Given the description of an element on the screen output the (x, y) to click on. 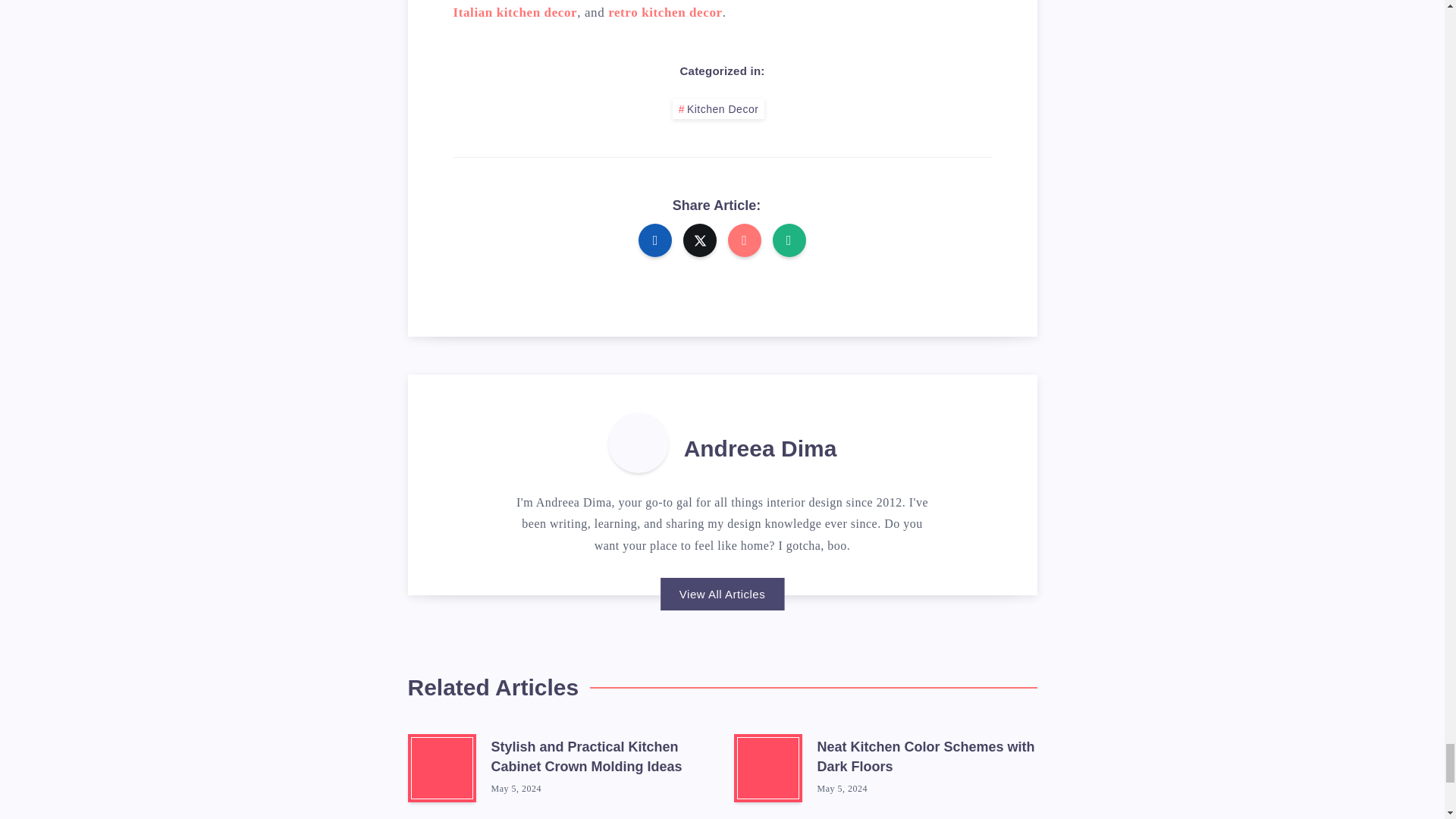
Author: Andreea Dima (638, 442)
